Given the description of an element on the screen output the (x, y) to click on. 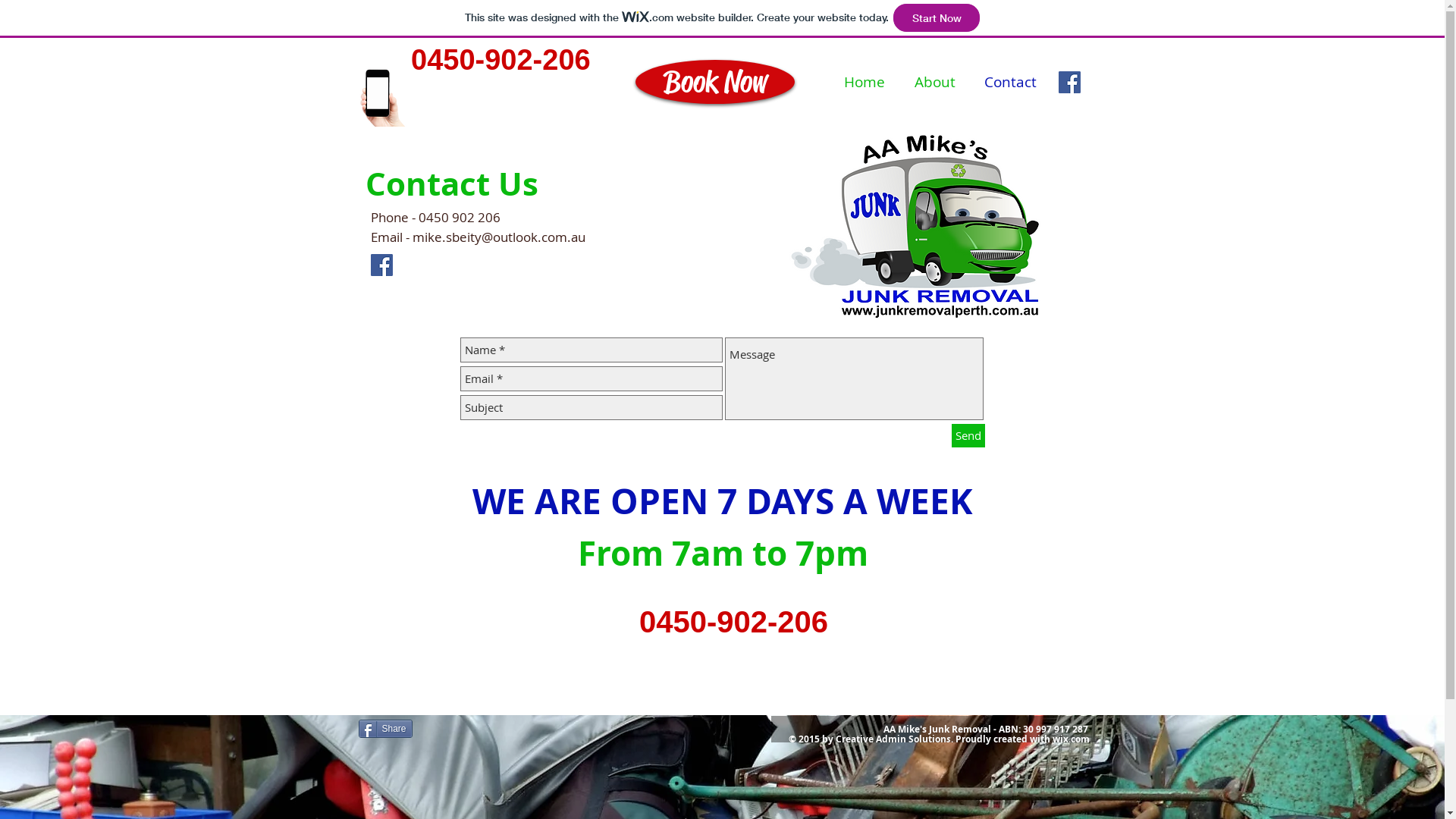
Share Element type: text (384, 727)
s Element type: text (948, 738)
Home Element type: text (864, 81)
iPhone in Hand Element type: hover (383, 96)
AA MIKES LOGO 2.PNG Element type: hover (915, 226)
Creative Admin Solution Element type: text (890, 738)
Embedded Content Element type: hover (530, 88)
mike.sbeity@outlook.com.au Element type: text (498, 236)
Send Element type: text (967, 435)
Book Now Element type: text (714, 81)
About Element type: text (934, 81)
Embedded Content Element type: hover (741, 657)
Contact Element type: text (1009, 81)
